Given the description of an element on the screen output the (x, y) to click on. 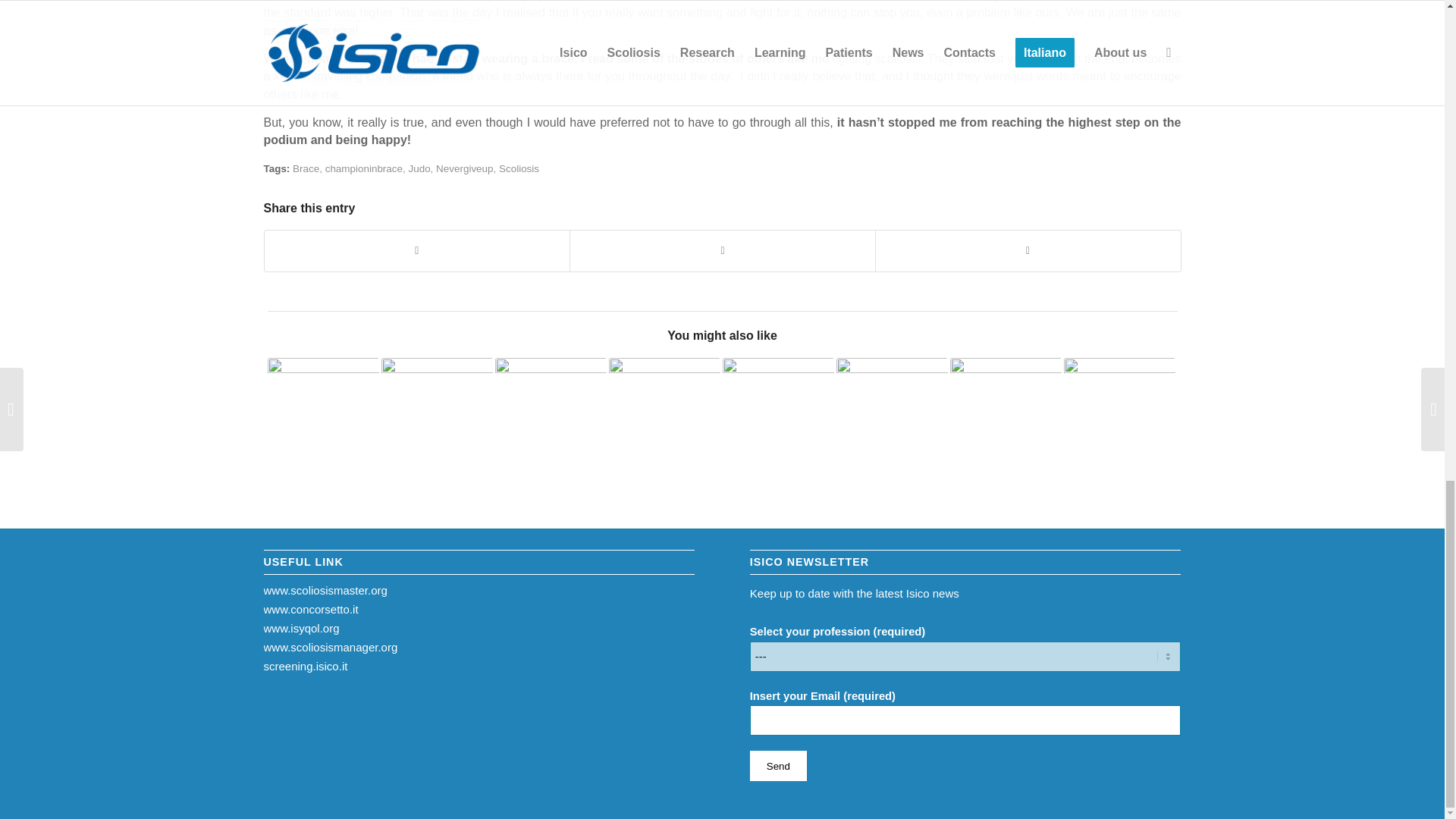
Send (777, 766)
Bracing works better in Italy (663, 413)
Master On Line Course: registration now open! (777, 413)
Scoliosis: situations to beware of in adulthood (436, 413)
